Given the description of an element on the screen output the (x, y) to click on. 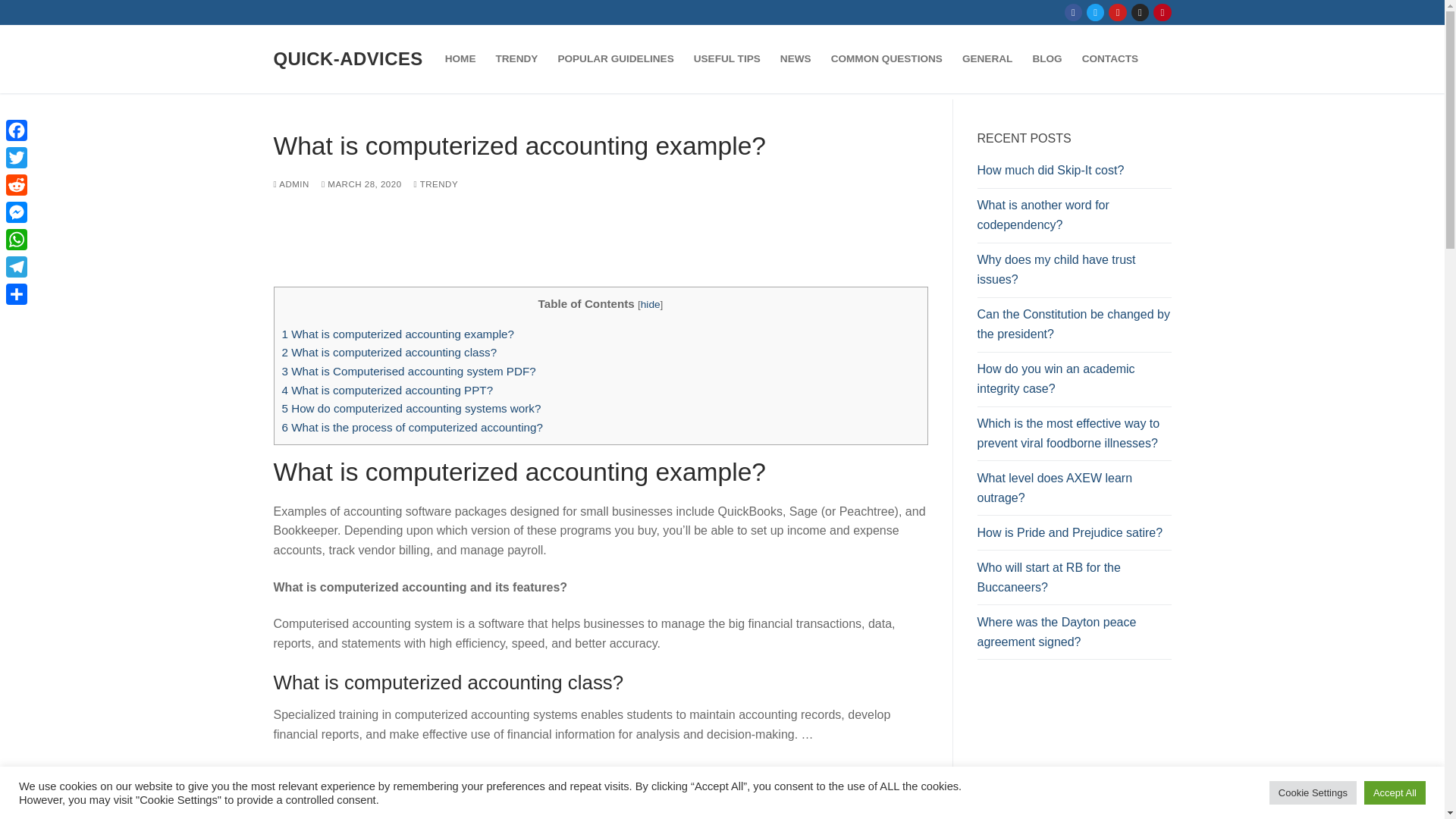
2 What is computerized accounting class? (389, 351)
4 What is computerized accounting PPT? (387, 390)
Pinterest (1162, 12)
CONTACTS (1109, 59)
ADMIN (290, 184)
TRENDY (515, 59)
MARCH 28, 2020 (361, 184)
TRENDY (435, 184)
1 What is computerized accounting example? (397, 333)
QUICK-ADVICES (347, 58)
